Given the description of an element on the screen output the (x, y) to click on. 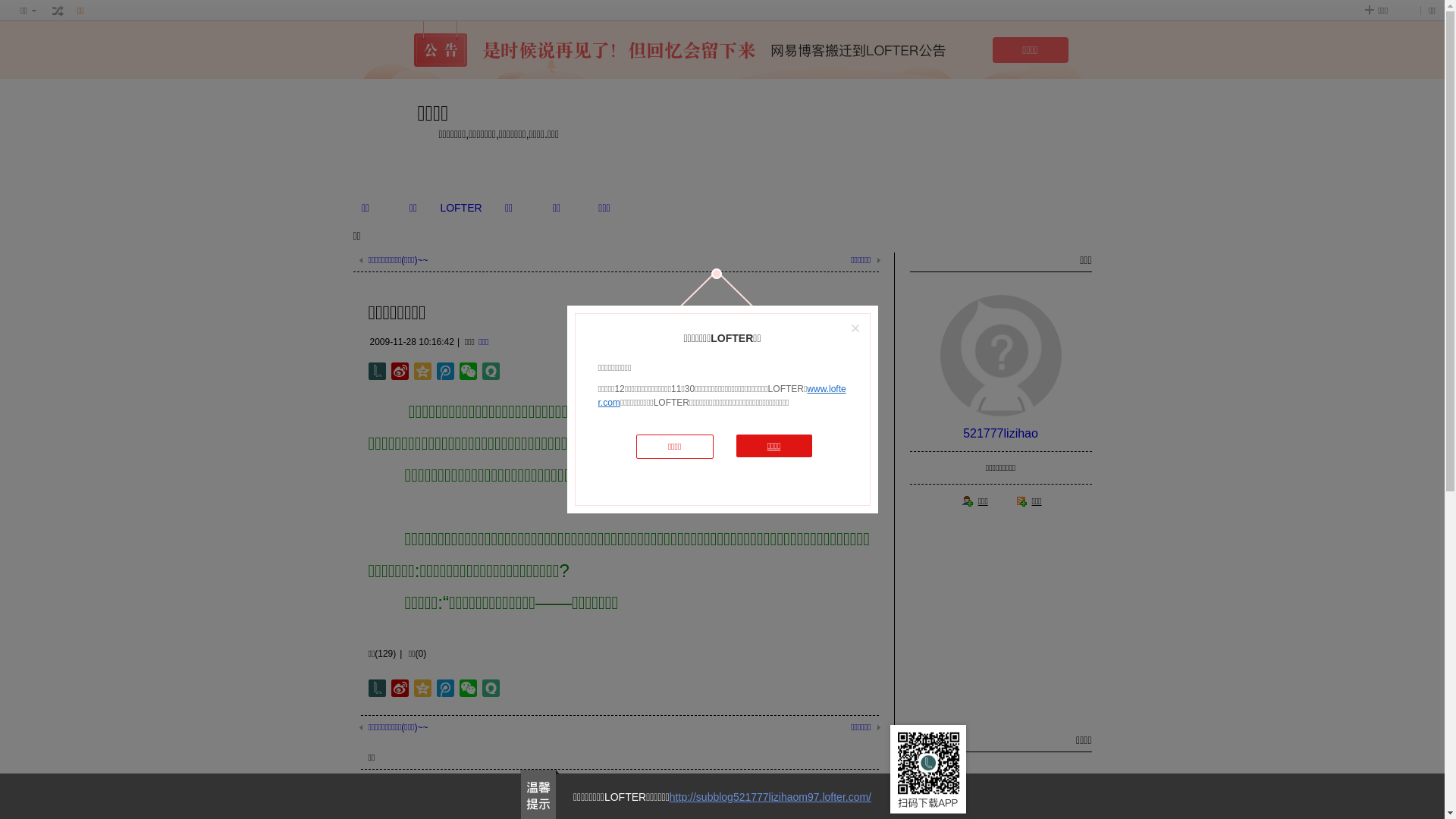
LOFTER Element type: text (460, 207)
  Element type: text (58, 10)
http://subblog521777lizihaom97.lofter.com/ Element type: text (770, 796)
www.lofter.com Element type: text (721, 395)
521777lizihao Element type: text (1000, 432)
